Given the description of an element on the screen output the (x, y) to click on. 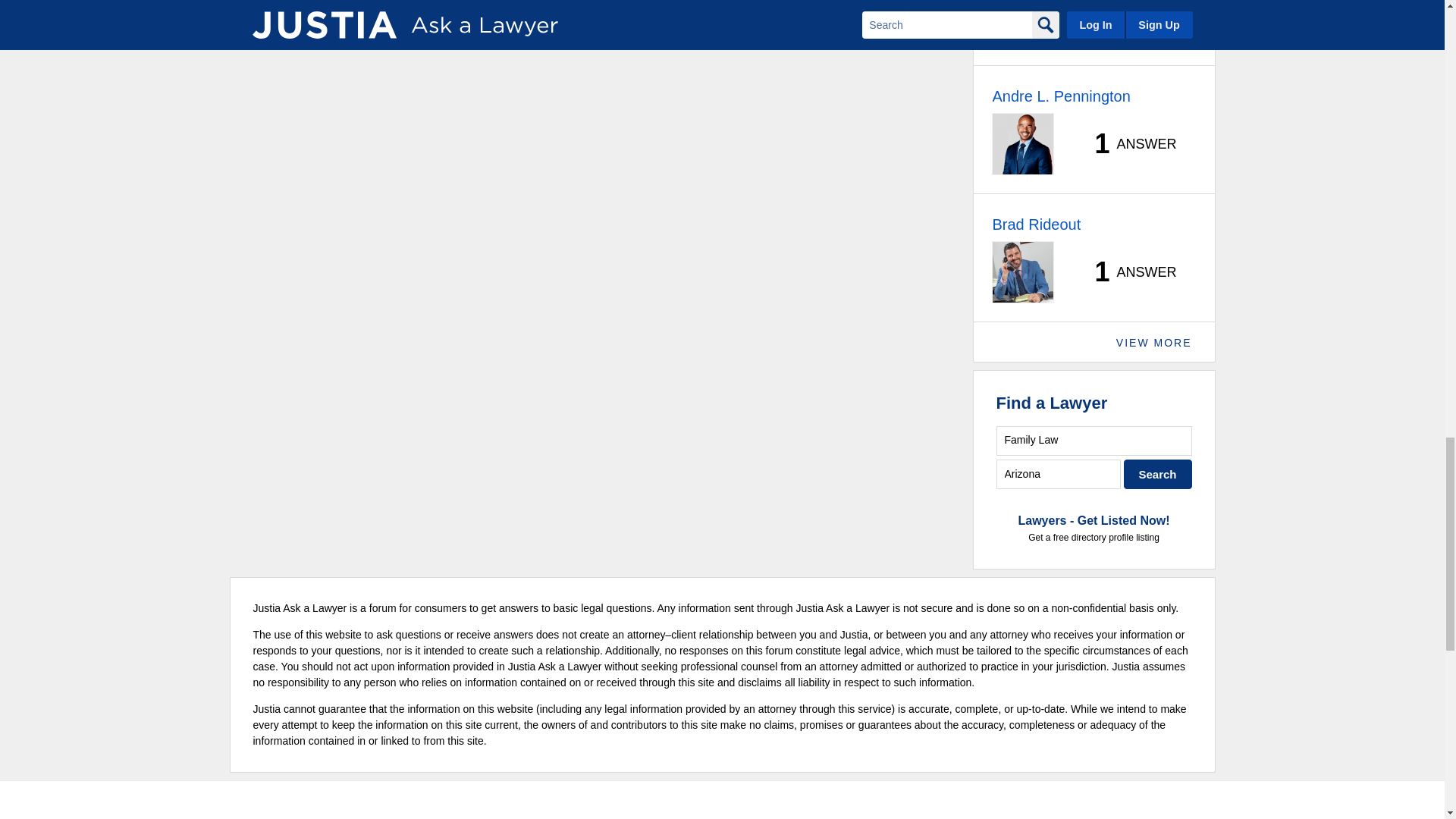
Ask a Lawyer - Leaderboard - Lawyer Name (1060, 96)
Arizona (1058, 473)
Ask a Lawyer - Leaderboard - Lawyer Photo (1021, 22)
Family Law (1093, 440)
Search (1158, 473)
Search (1158, 473)
Ask a Lawyer - Leaderboard - Lawyer Photo (1021, 143)
Ask a Lawyer - Leaderboard - Lawyer Stats (1127, 15)
